Given the description of an element on the screen output the (x, y) to click on. 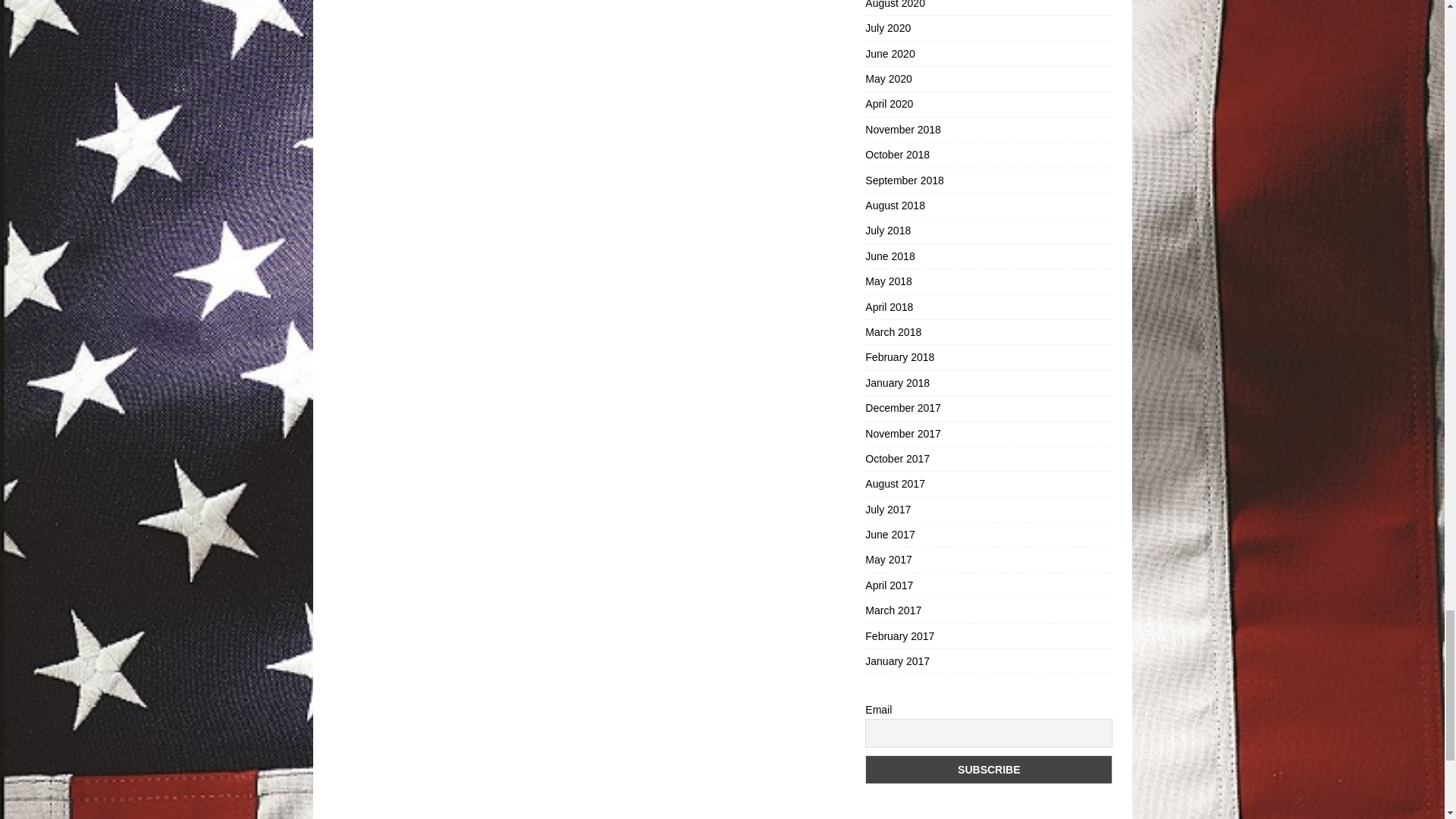
Subscribe (988, 769)
